Given the description of an element on the screen output the (x, y) to click on. 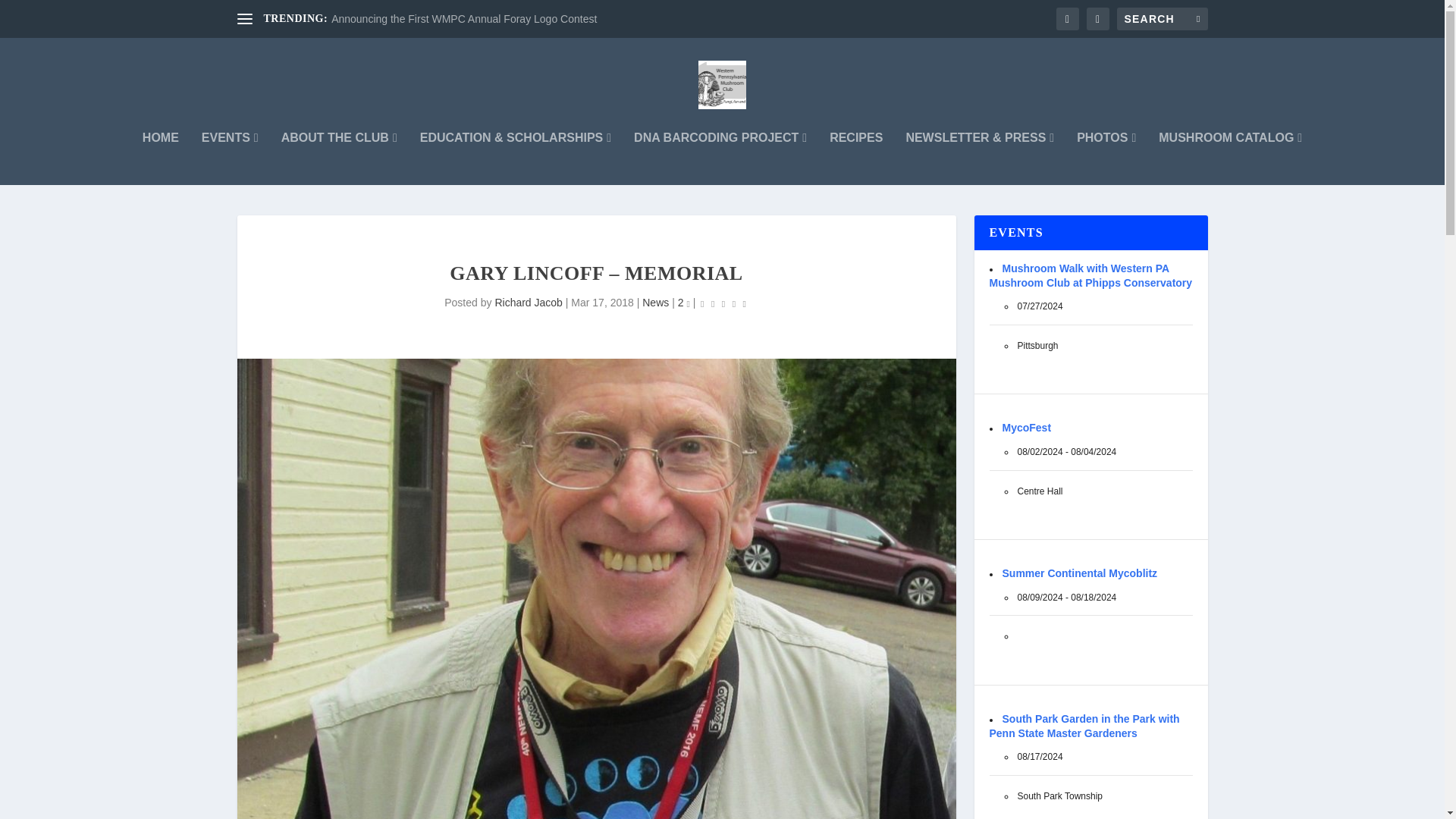
Rating: 0.00 (723, 303)
Announcing the First WMPC Annual Foray Logo Contest (463, 19)
ABOUT THE CLUB (339, 158)
DNA BARCODING PROJECT (719, 158)
EVENTS (230, 158)
Posts by Richard Jacob (528, 302)
Search for: (1161, 18)
